Given the description of an element on the screen output the (x, y) to click on. 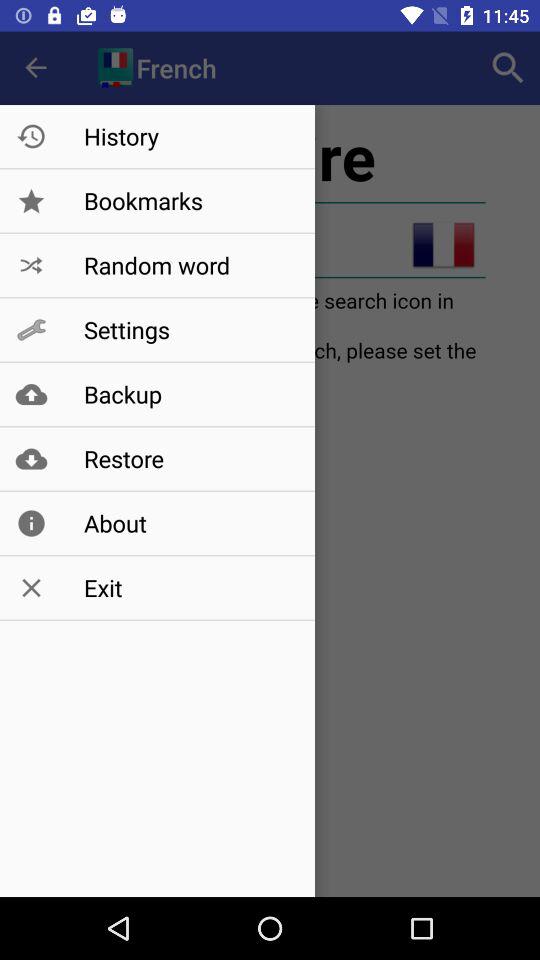
swipe until about (188, 523)
